Given the description of an element on the screen output the (x, y) to click on. 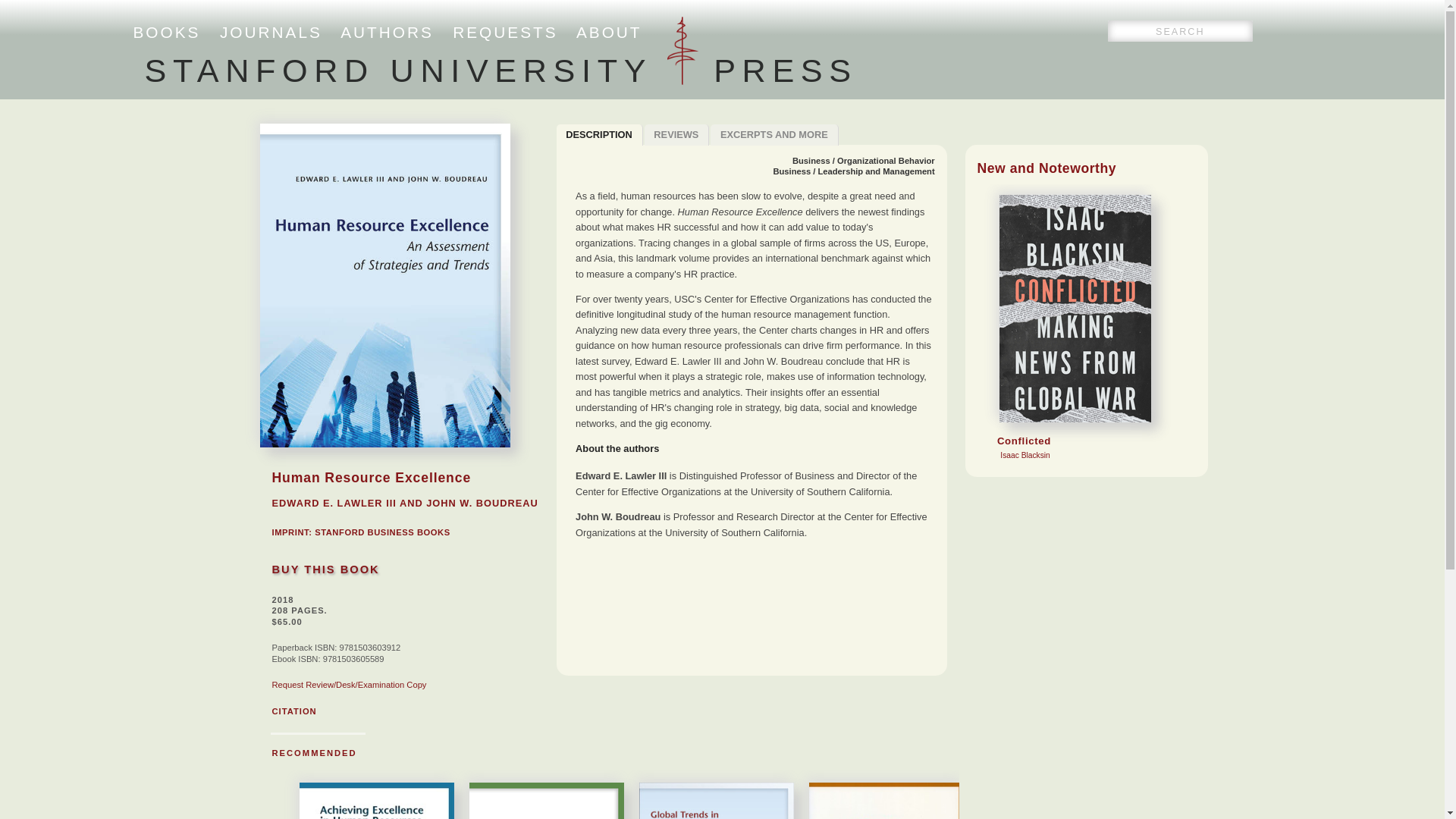
New and Noteworthy (774, 134)
RECOMMENDED (1046, 168)
REVIEWS (313, 752)
AUTHORS (677, 134)
ABOUT (386, 31)
REQUESTS (609, 31)
JOURNALS (504, 31)
STANFORD BUSINESS BOOKS (270, 31)
DESCRIPTION (381, 532)
STANFORD UNIVERSITY PRESS (599, 134)
BUY THIS BOOK (500, 70)
